Given the description of an element on the screen output the (x, y) to click on. 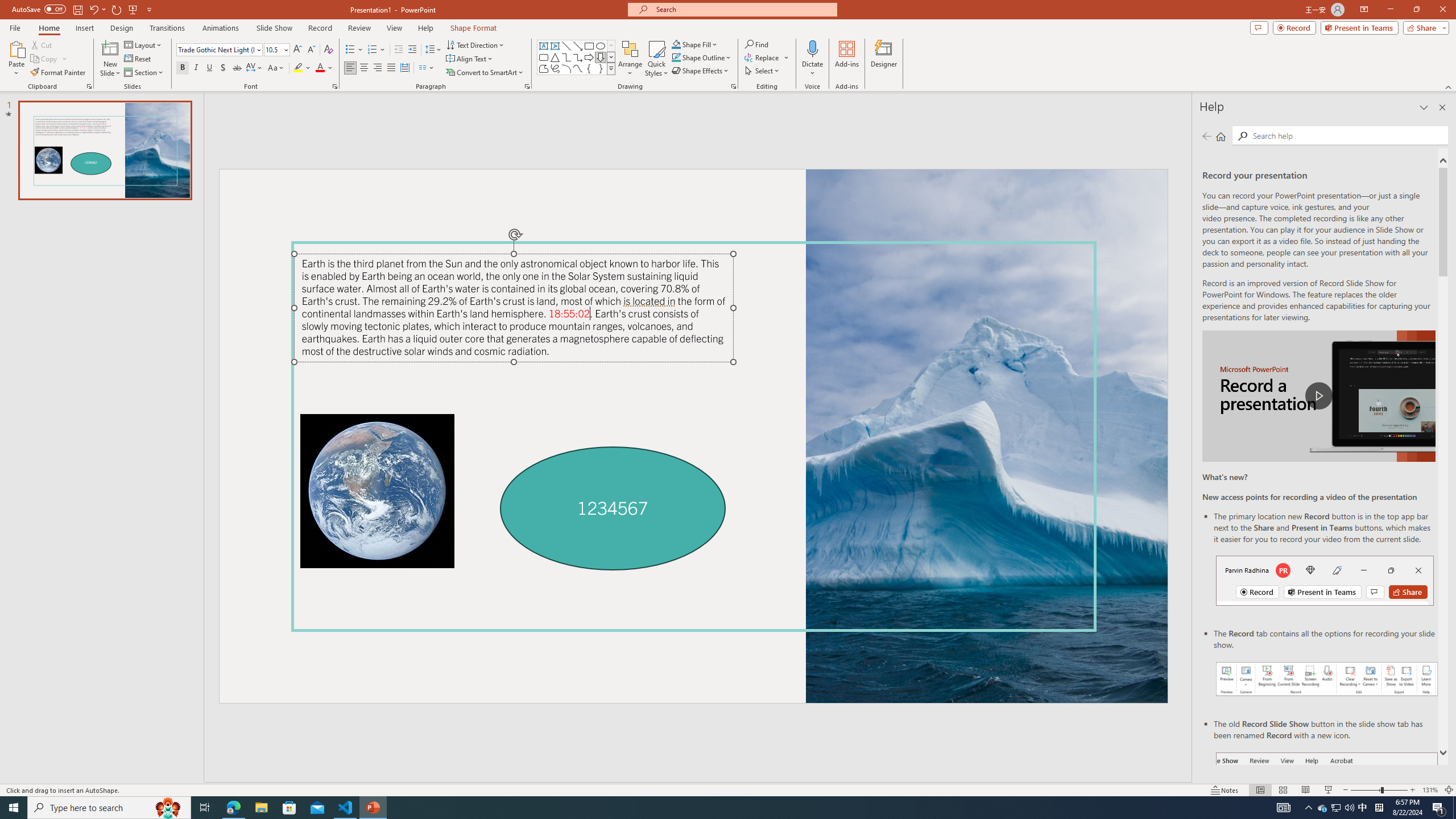
Record your presentations screenshot one (1326, 678)
Decrease Font Size (310, 49)
Row Down (611, 56)
Open (285, 49)
Zoom 131% (1430, 790)
Previous page (1206, 136)
Shape Fill Aqua, Accent 2 (675, 44)
Align Left (349, 67)
Copy (49, 58)
